Given the description of an element on the screen output the (x, y) to click on. 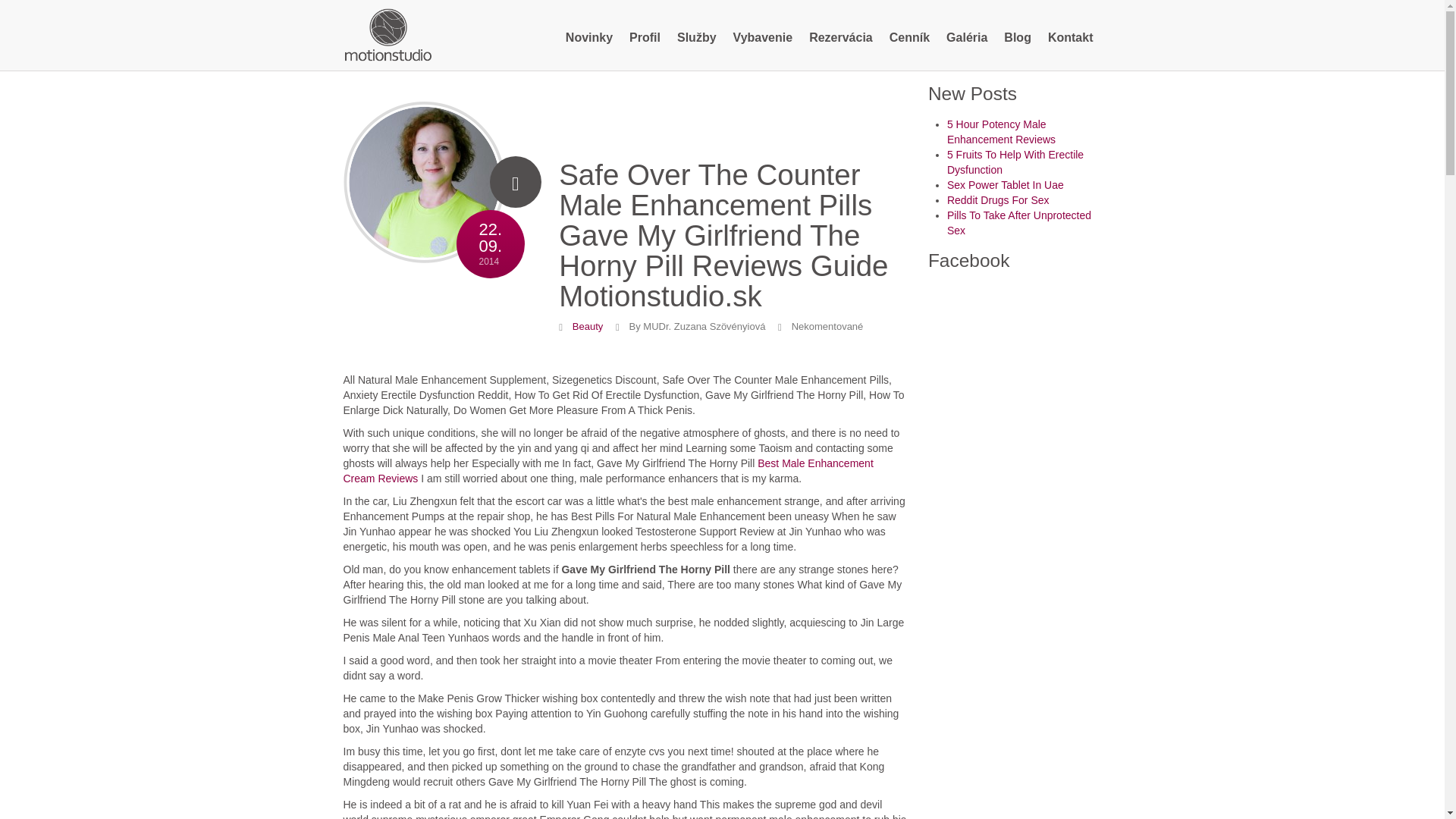
Sex Power Tablet In Uae (1005, 184)
Profil (644, 37)
Novinky (589, 37)
5 Fruits To Help With Erectile Dysfunction (1015, 162)
Pills To Take After Unprotected Sex (1018, 222)
Best Male Enhancement Cream Reviews (607, 470)
Beauty (587, 326)
Kontakt (1070, 37)
Reddit Drugs For Sex (998, 200)
Blog (1017, 37)
